Given the description of an element on the screen output the (x, y) to click on. 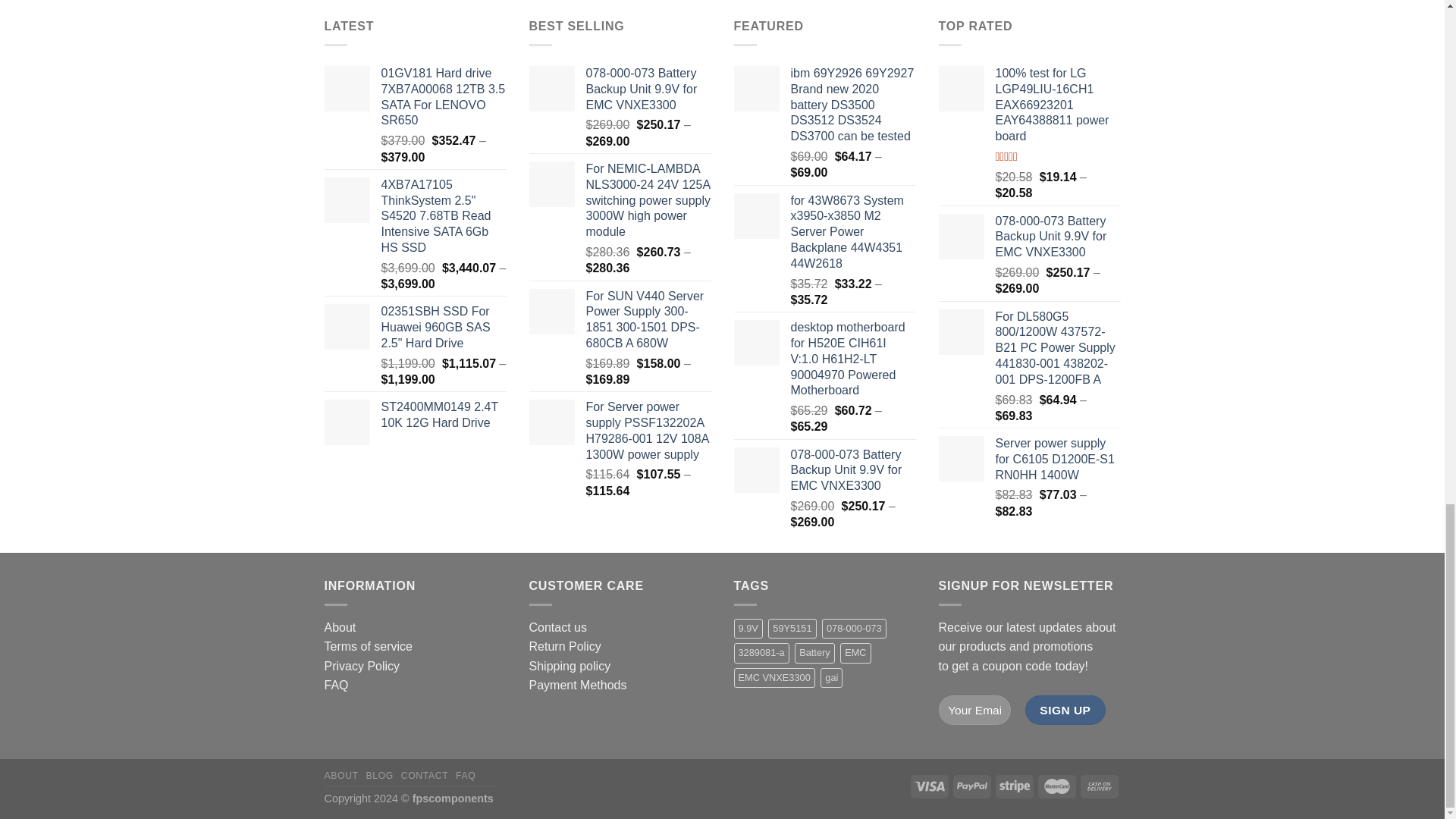
Sign Up (1065, 709)
